Given the description of an element on the screen output the (x, y) to click on. 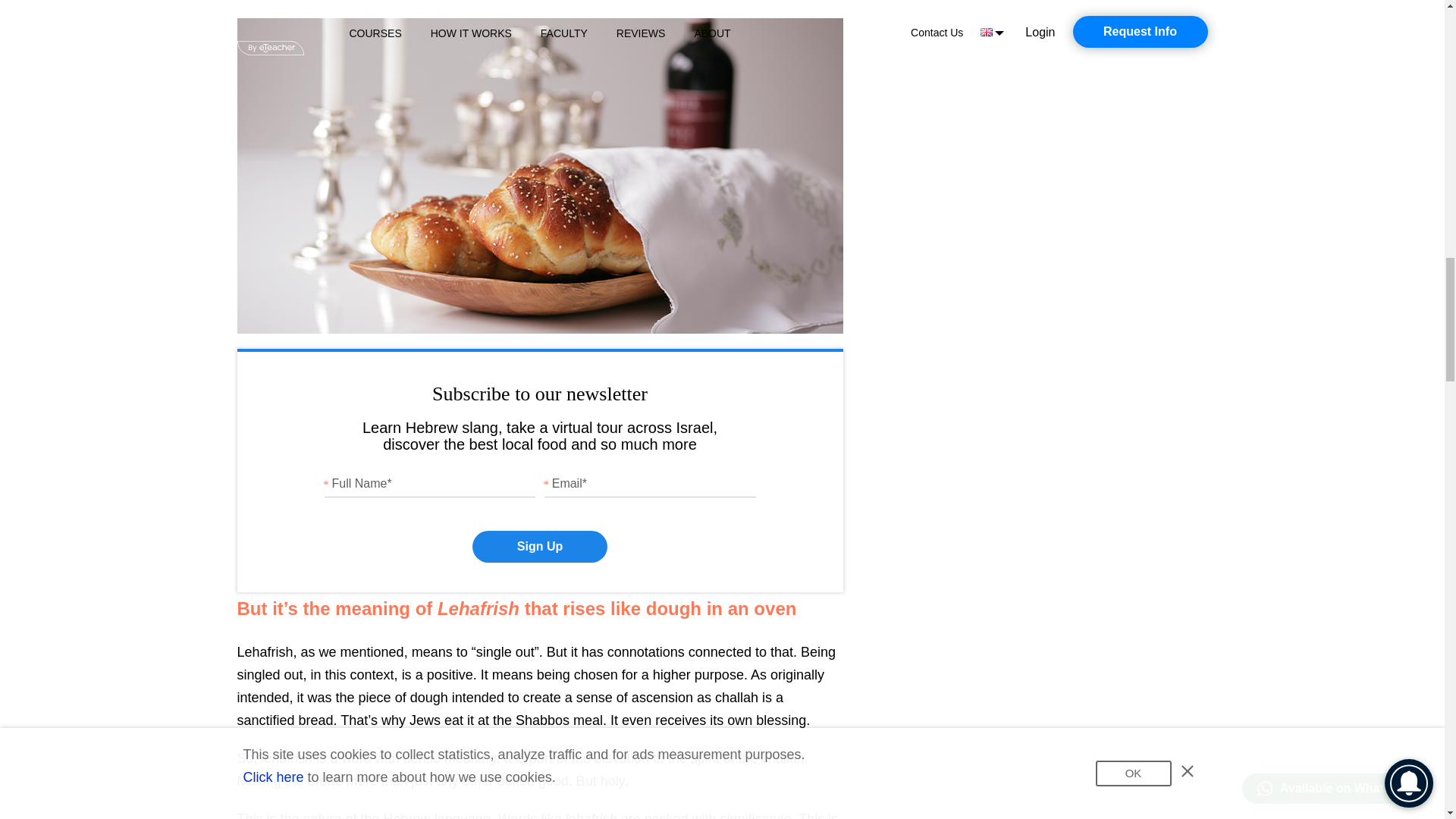
Please enter your email address (649, 483)
Please enter your full name (429, 483)
